Given the description of an element on the screen output the (x, y) to click on. 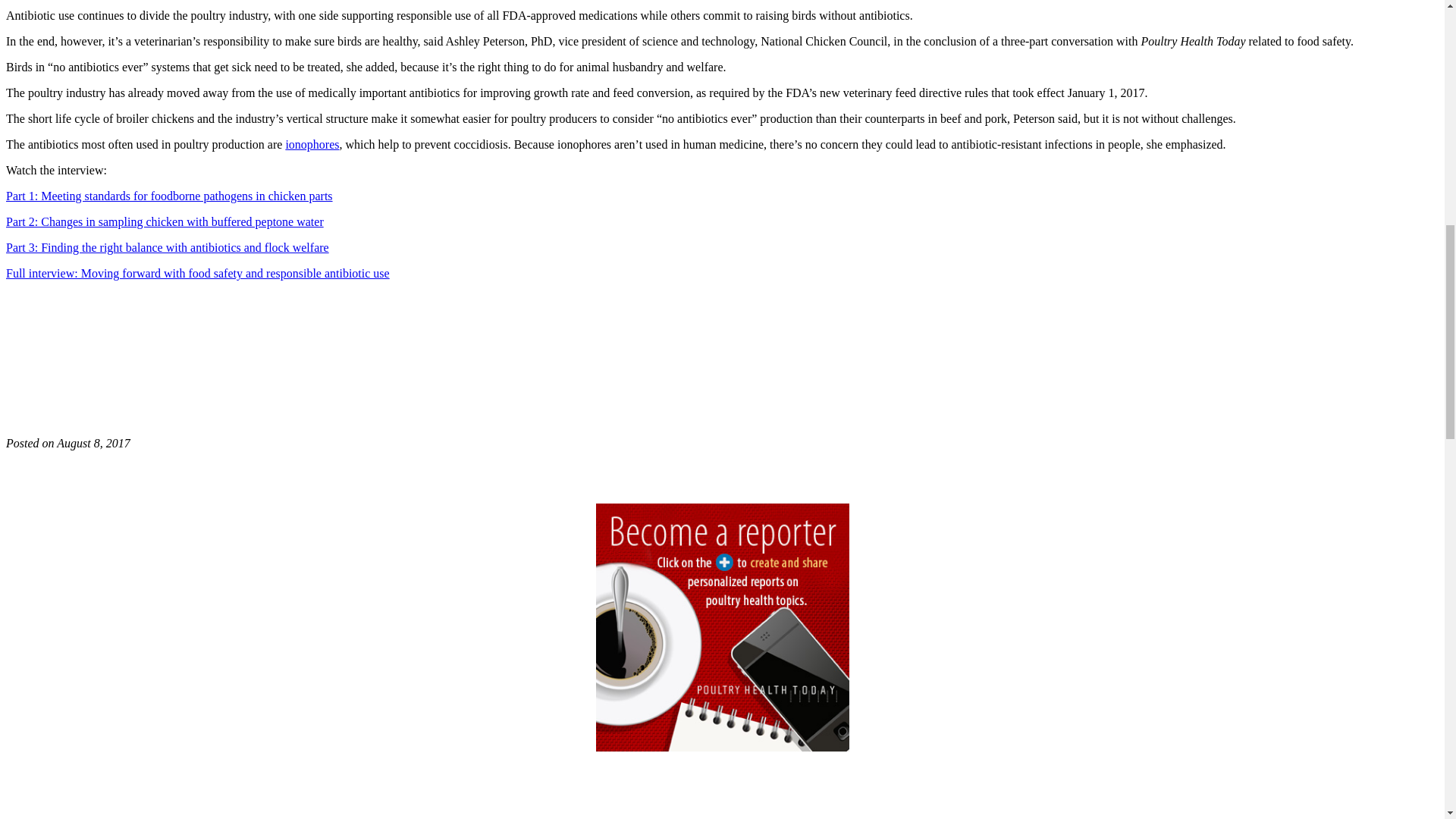
ionophores (312, 144)
